Given the description of an element on the screen output the (x, y) to click on. 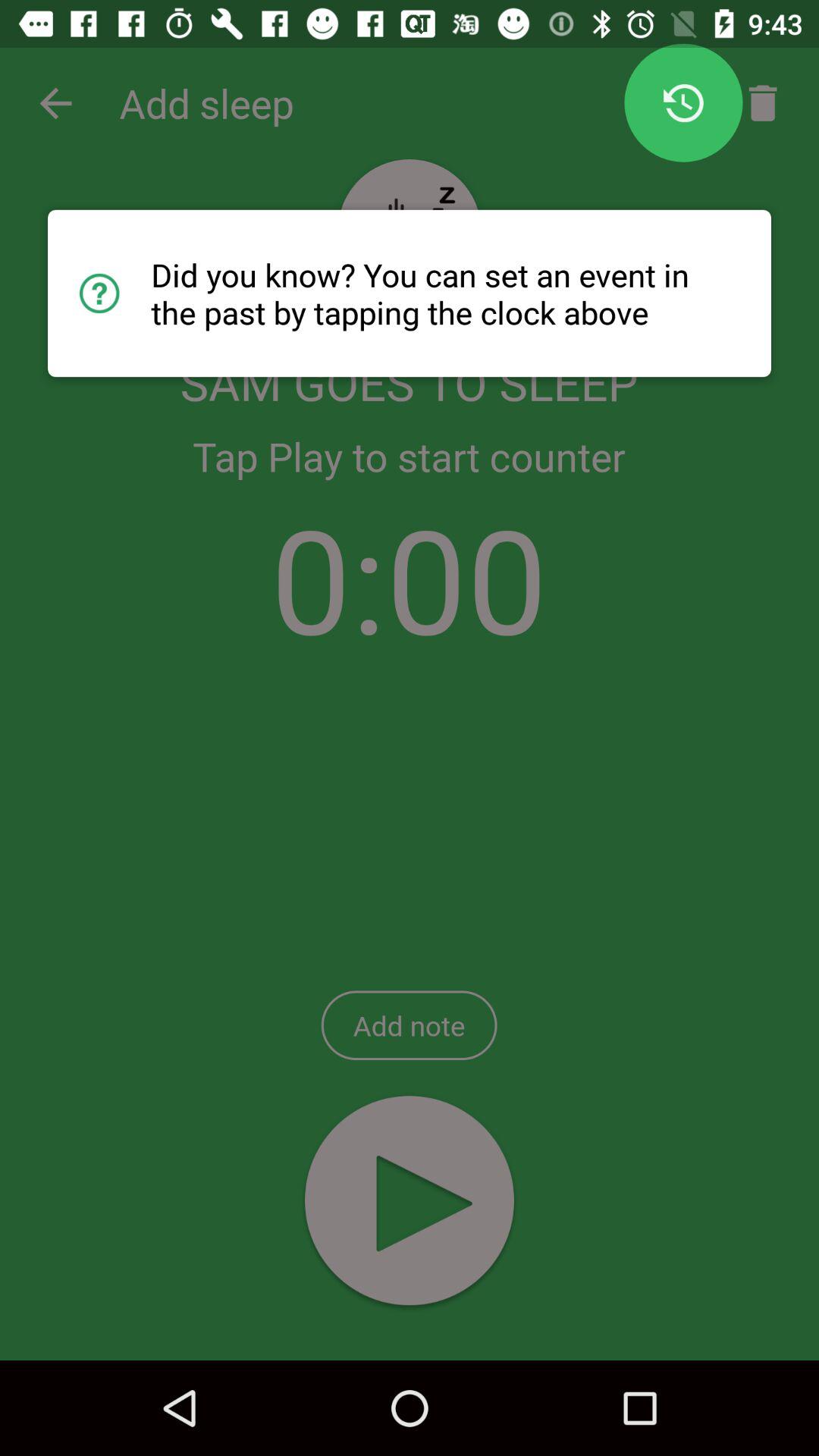
launch the 0:00 item (408, 577)
